Given the description of an element on the screen output the (x, y) to click on. 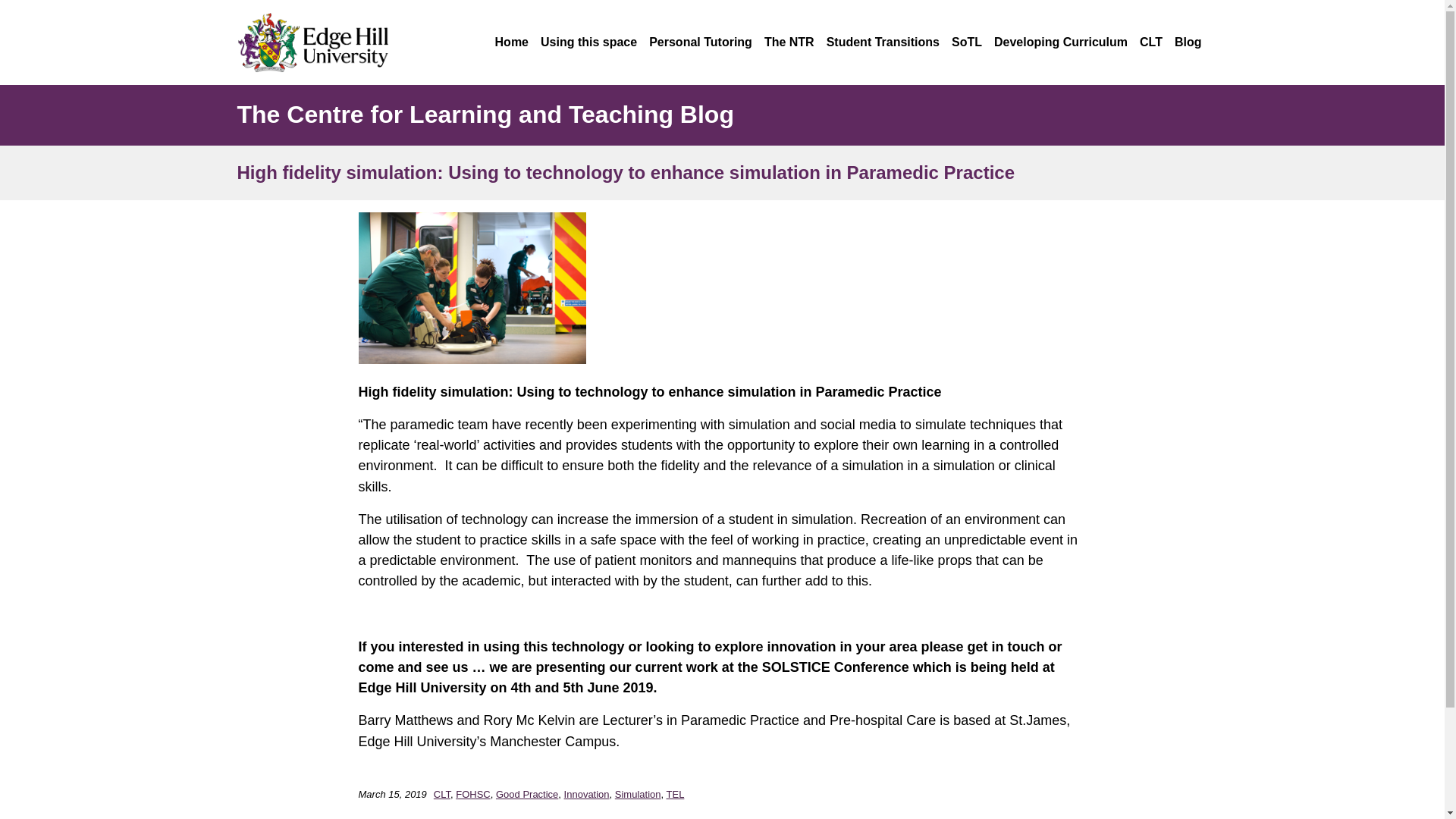
Simulation (637, 794)
CLT (441, 794)
Student Transitions (883, 42)
CLT (1150, 42)
Using this space (588, 42)
Blog (1188, 42)
The NTR (788, 42)
TEL (675, 794)
Good Practice (526, 794)
Developing Curriculum (1060, 42)
Personal Tutoring (700, 42)
SoTL (966, 42)
Home (511, 42)
Innovation (587, 794)
FOHSC (472, 794)
